Given the description of an element on the screen output the (x, y) to click on. 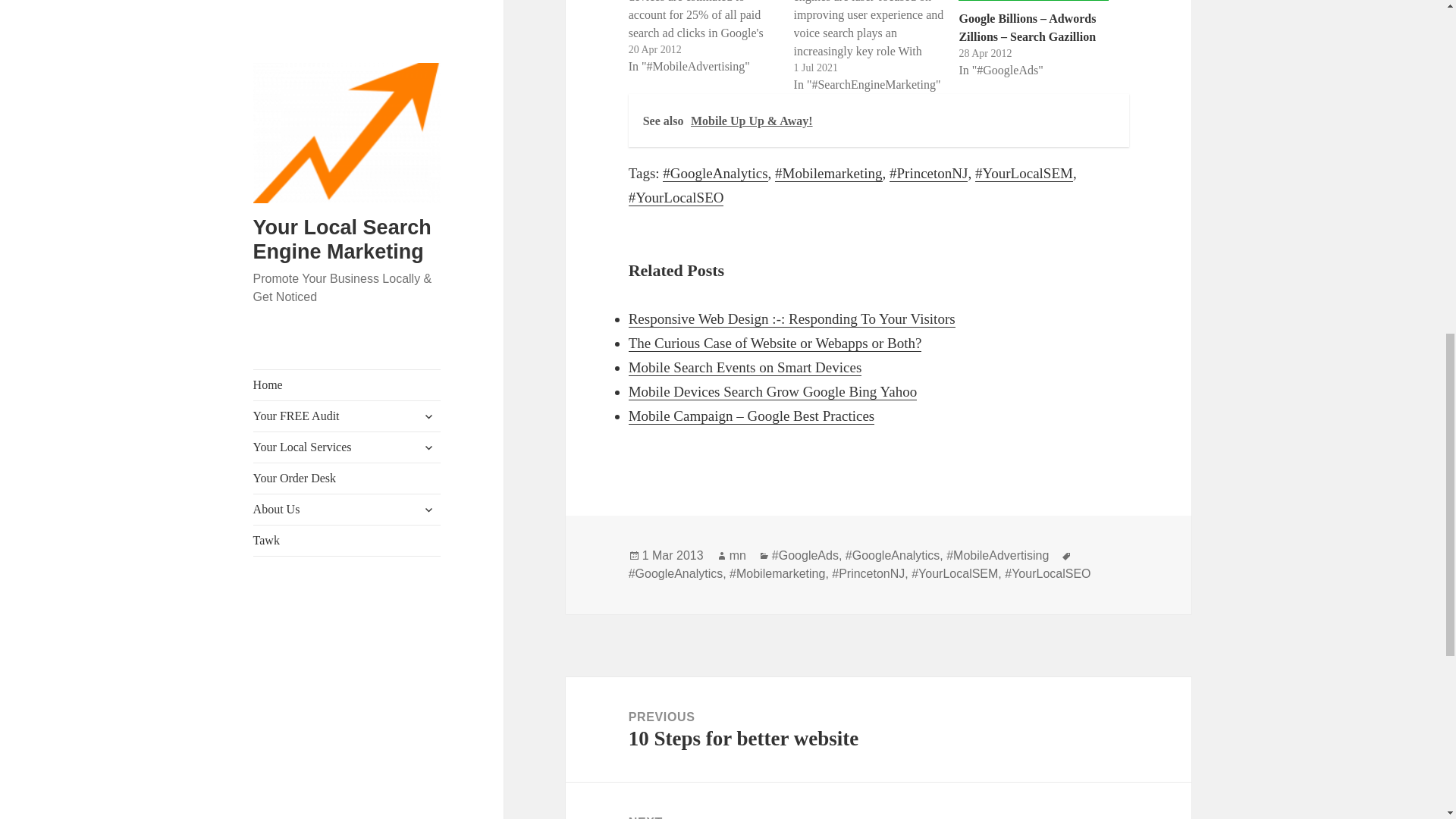
Multilingual SEO for voice searches: Comprehensive guide (876, 47)
Mobile Devices Search Grow Google Bing Yahoo (710, 38)
